Given the description of an element on the screen output the (x, y) to click on. 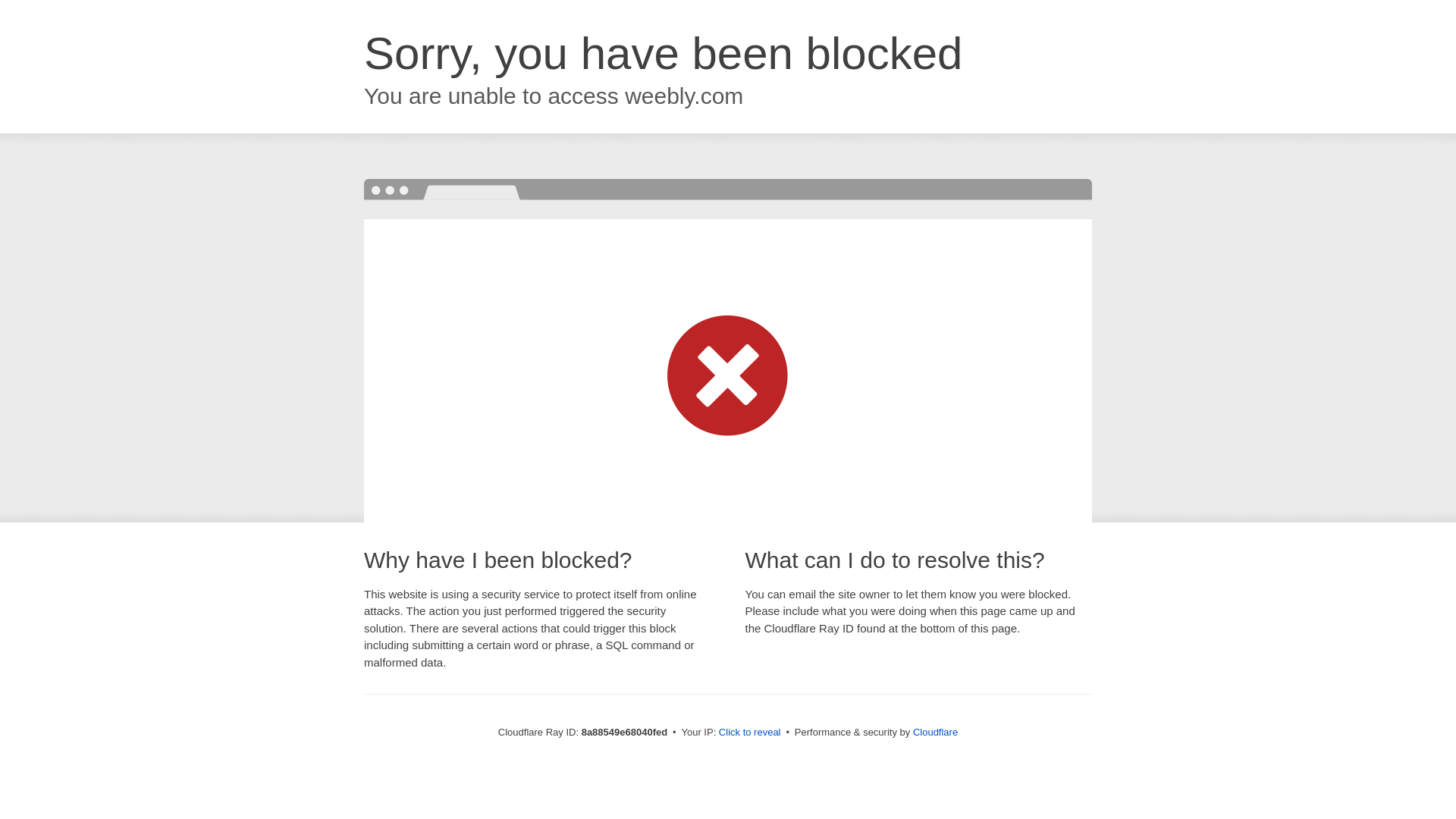
Click to reveal (749, 732)
Cloudflare (935, 731)
